Given the description of an element on the screen output the (x, y) to click on. 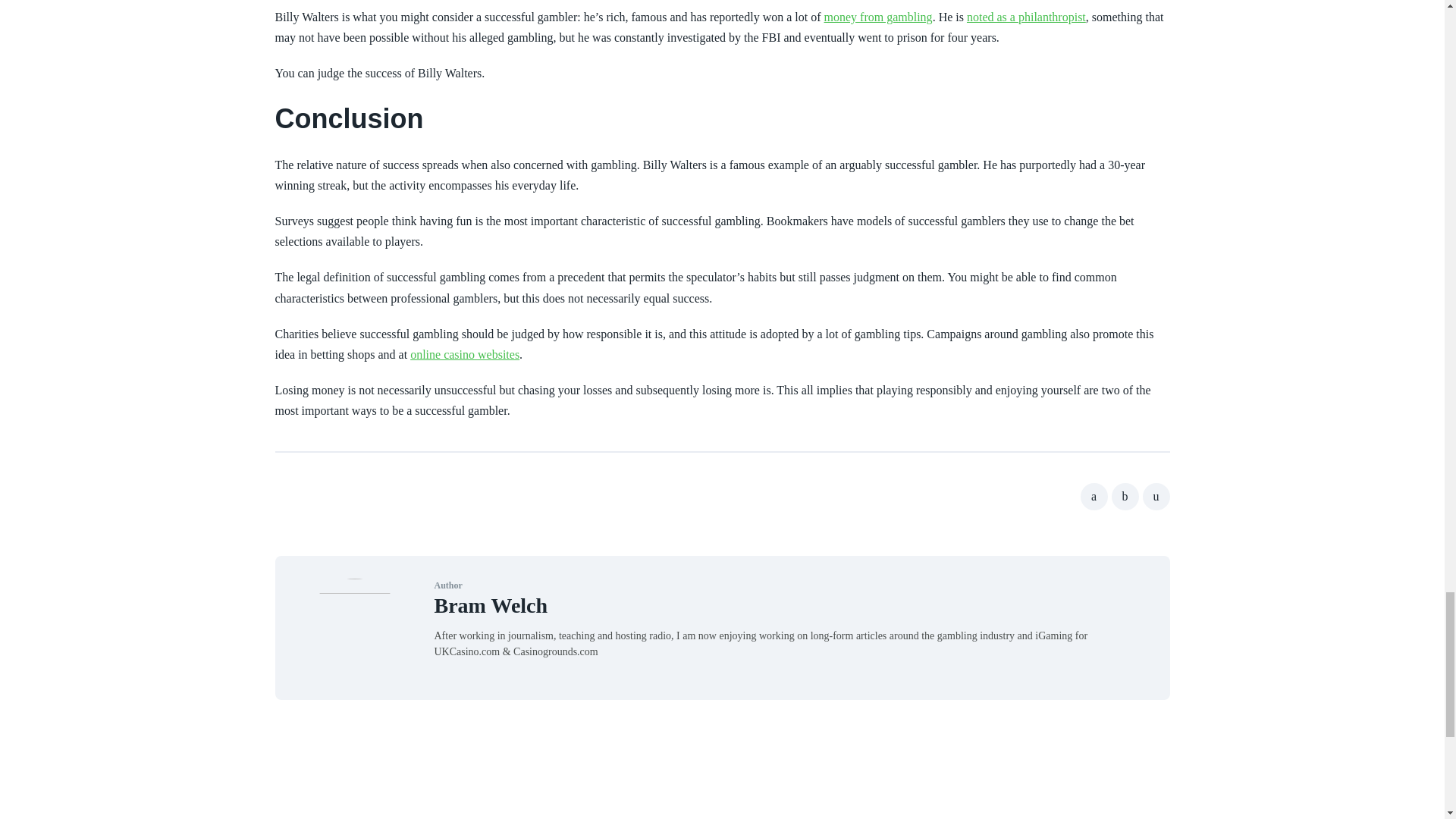
Share by email (1155, 496)
Share on Facebook (1093, 496)
Share on Twitter (1125, 496)
noted as a philanthropist (1026, 16)
money from gambling (878, 16)
online casino websites (464, 354)
